Given the description of an element on the screen output the (x, y) to click on. 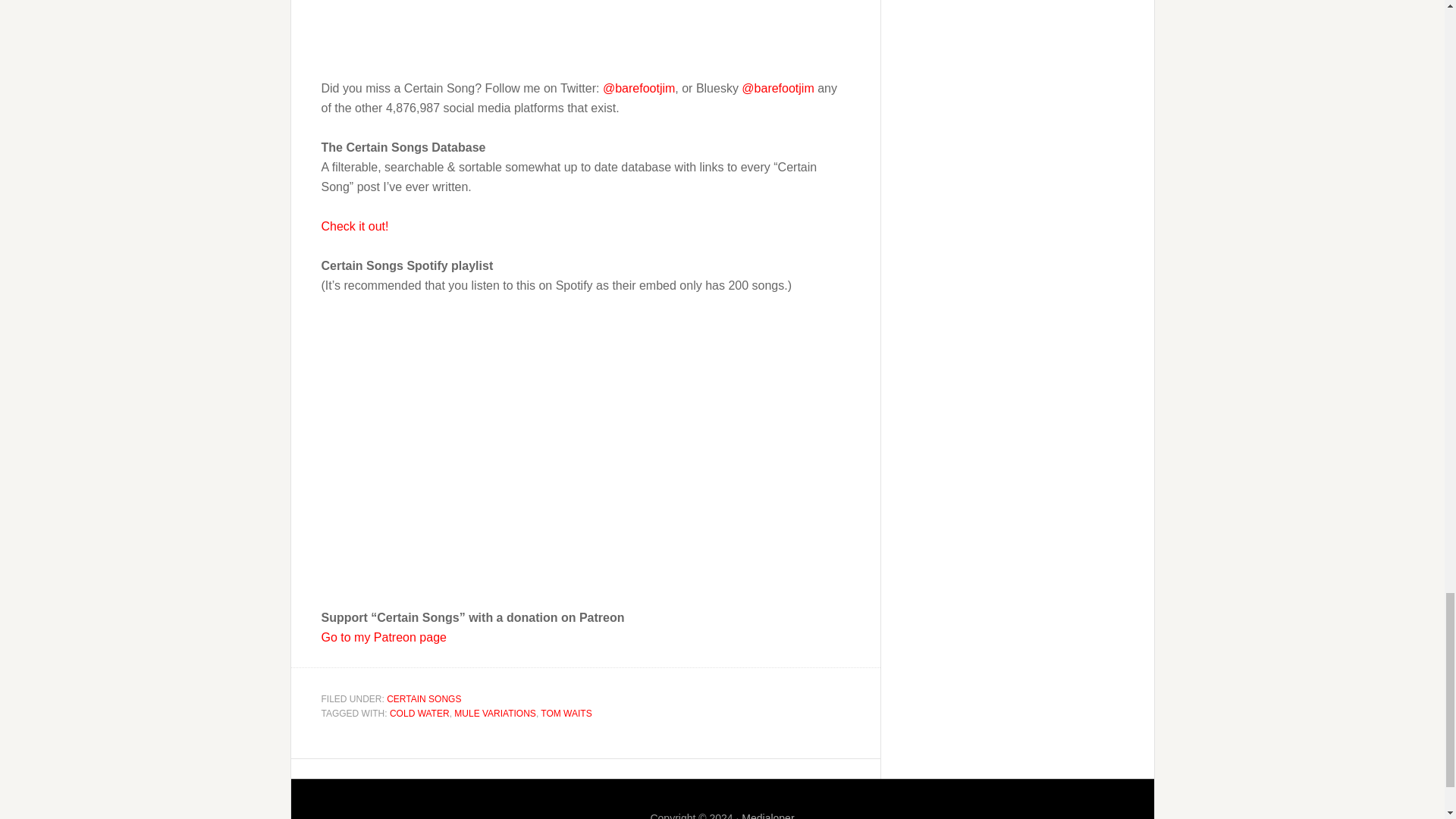
COLD WATER (419, 713)
Tom Waits - "Cold Water" (510, 26)
MULE VARIATIONS (494, 713)
CERTAIN SONGS (424, 697)
Medialoper (767, 815)
Check it out! (354, 226)
Go to my Patreon page (383, 636)
TOM WAITS (565, 713)
